Given the description of an element on the screen output the (x, y) to click on. 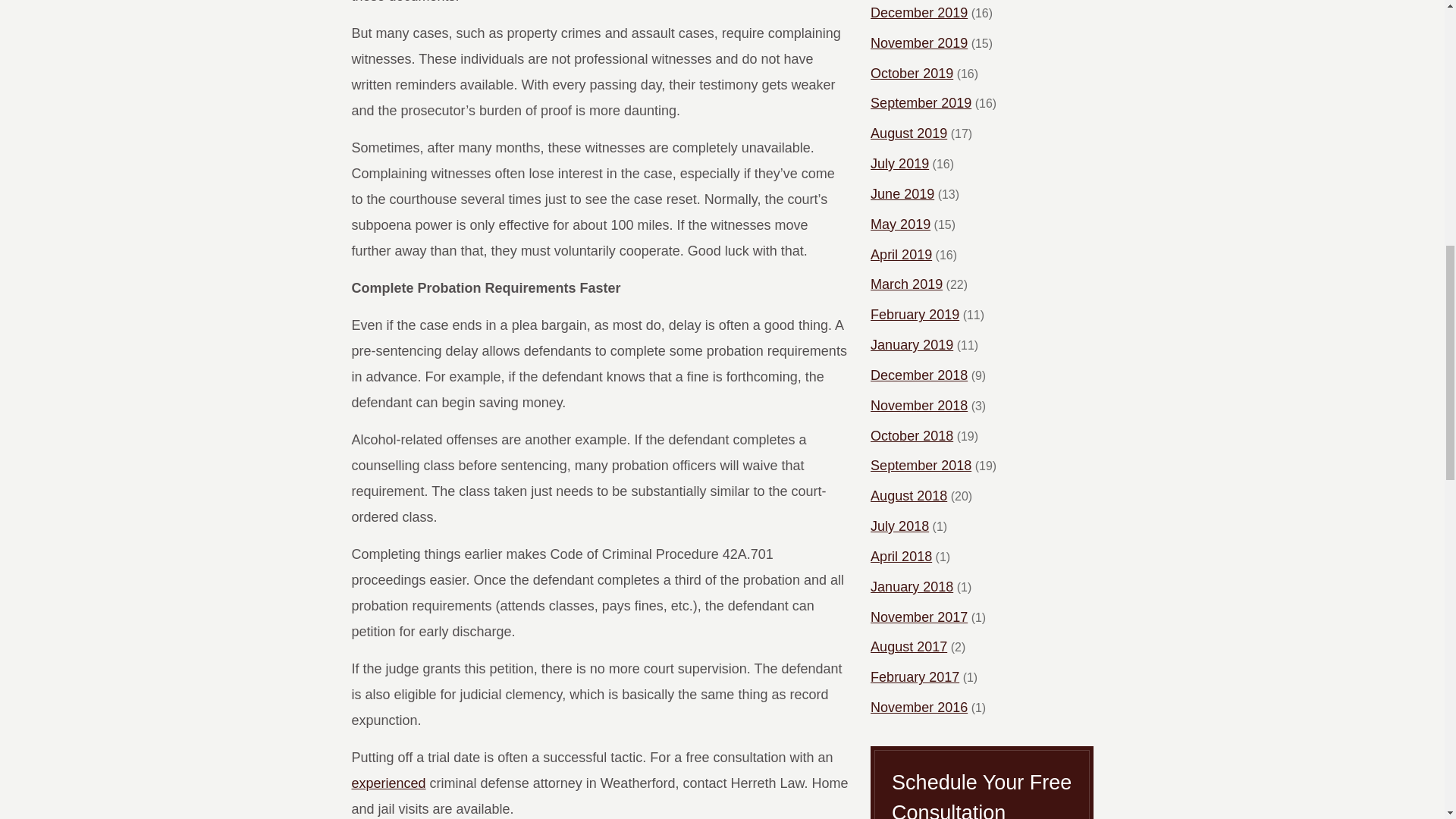
experienced (389, 783)
May 2019 (900, 225)
August 2019 (908, 134)
March 2019 (906, 284)
June 2019 (902, 194)
April 2019 (900, 255)
July 2019 (899, 164)
November 2019 (919, 43)
September 2019 (920, 103)
October 2019 (911, 73)
December 2019 (919, 13)
